Given the description of an element on the screen output the (x, y) to click on. 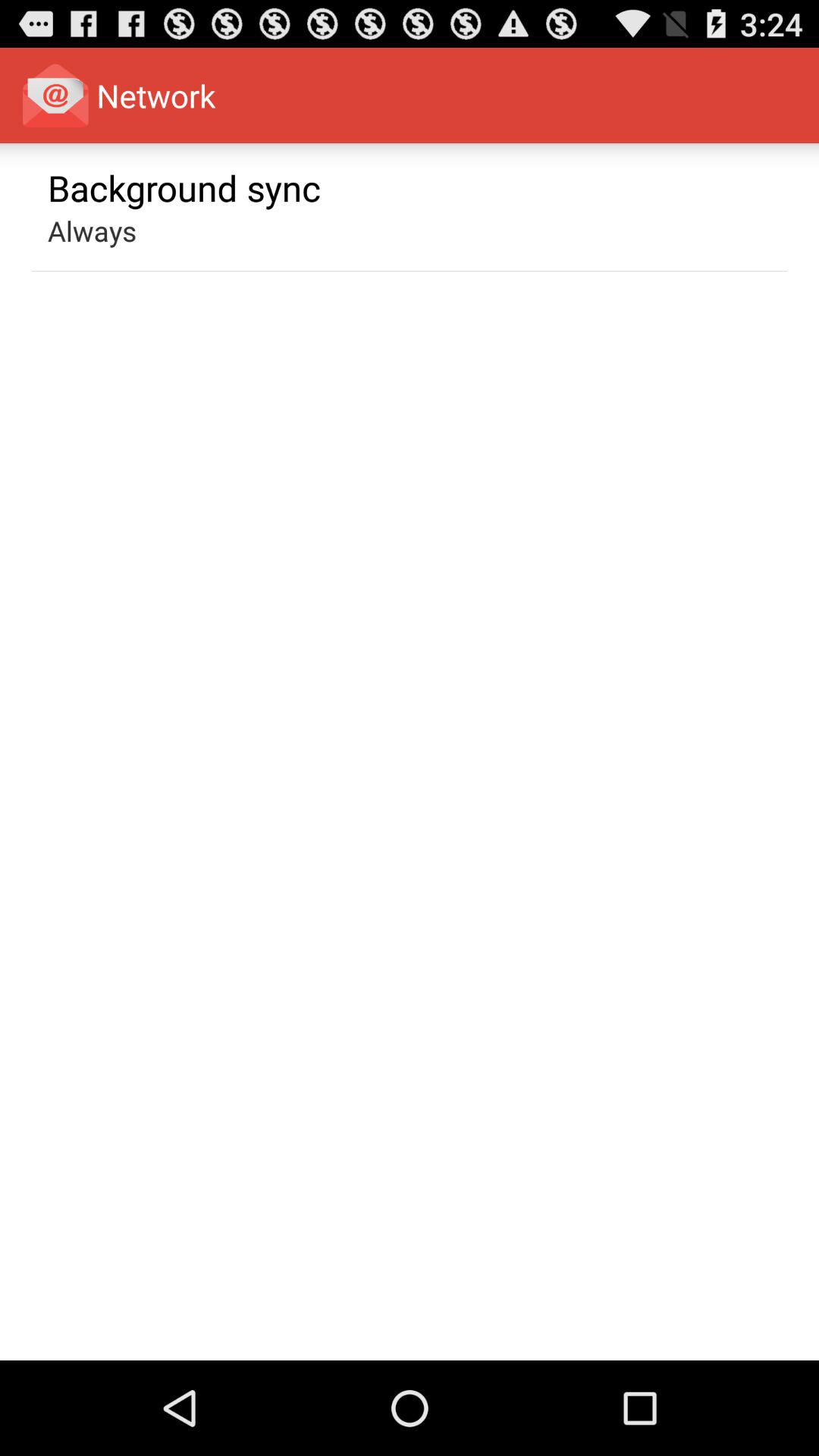
press always (91, 230)
